Given the description of an element on the screen output the (x, y) to click on. 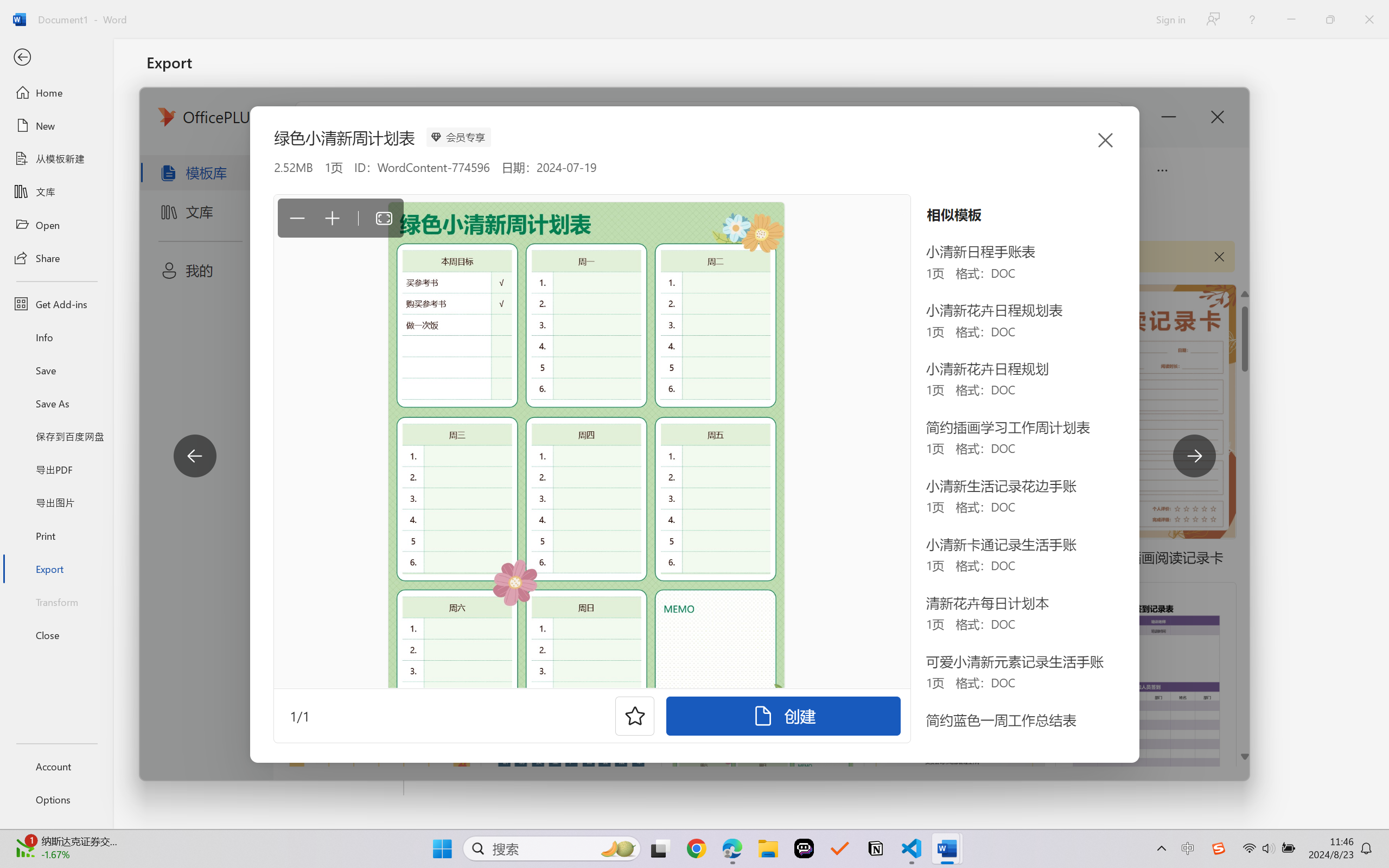
Export (56, 568)
Account (56, 765)
Save As (56, 403)
Back (56, 57)
Sign in (1170, 18)
